Given the description of an element on the screen output the (x, y) to click on. 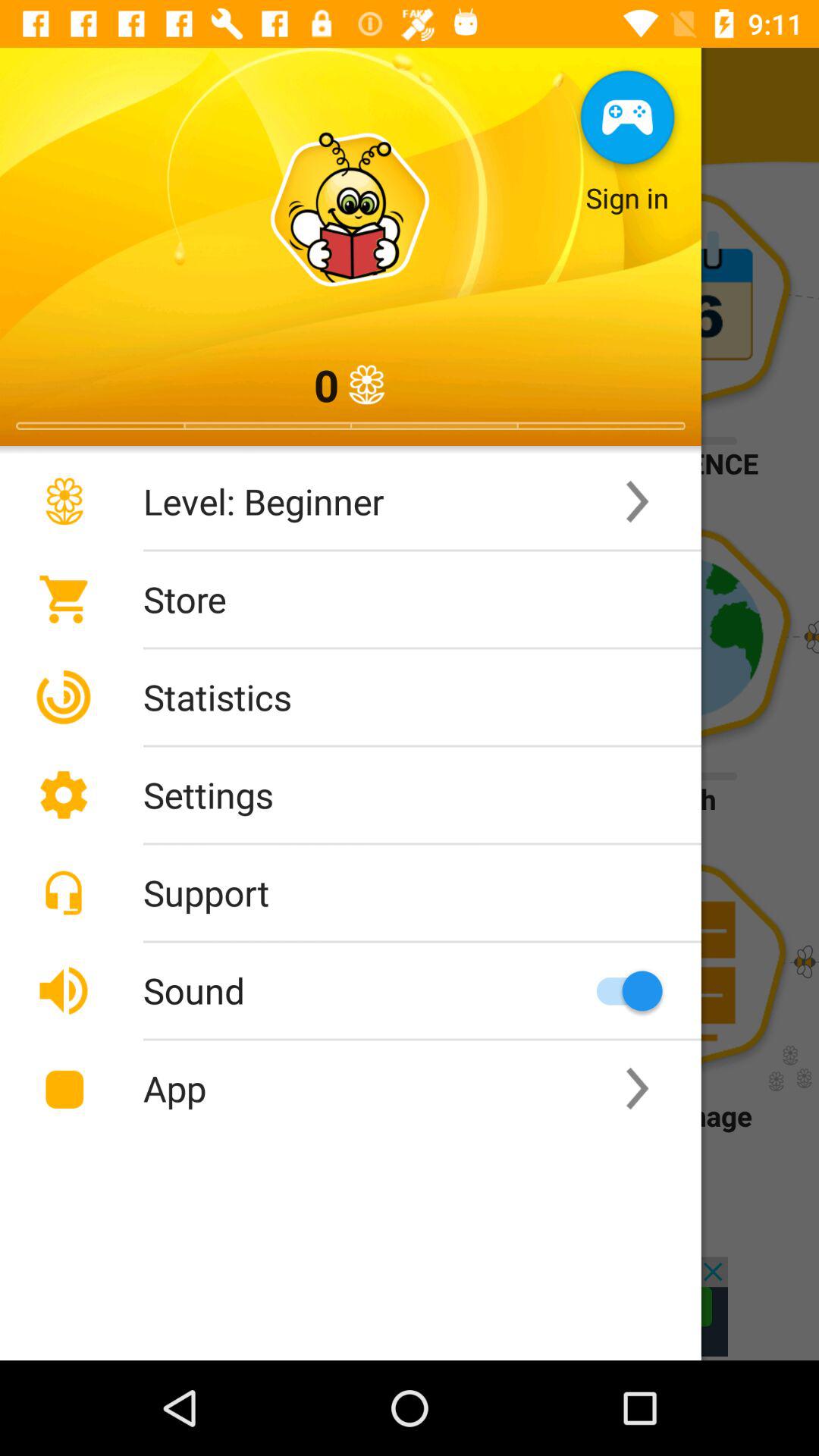
select the second right scroll (637, 1089)
click on the icon which is right to the beginner (637, 502)
